Given the description of an element on the screen output the (x, y) to click on. 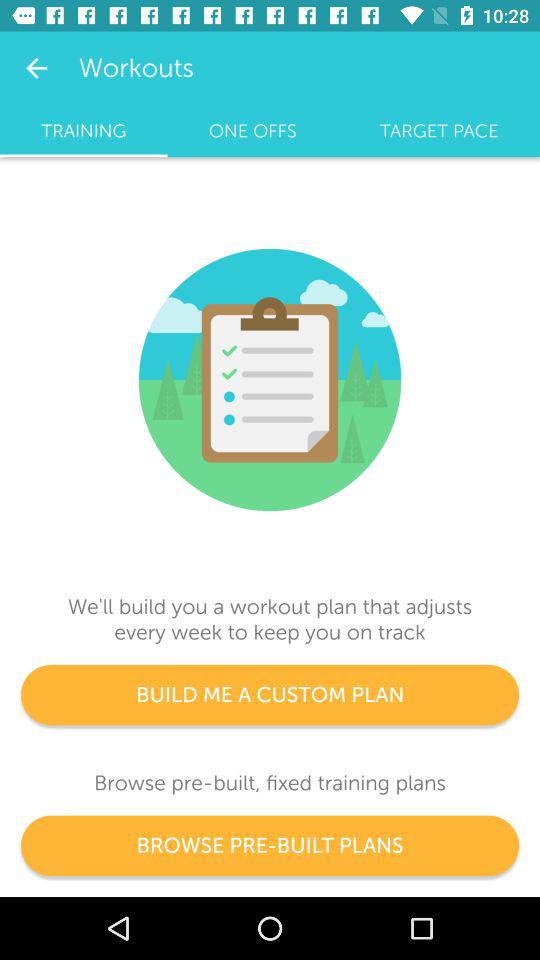
jump until target pace icon (439, 131)
